Given the description of an element on the screen output the (x, y) to click on. 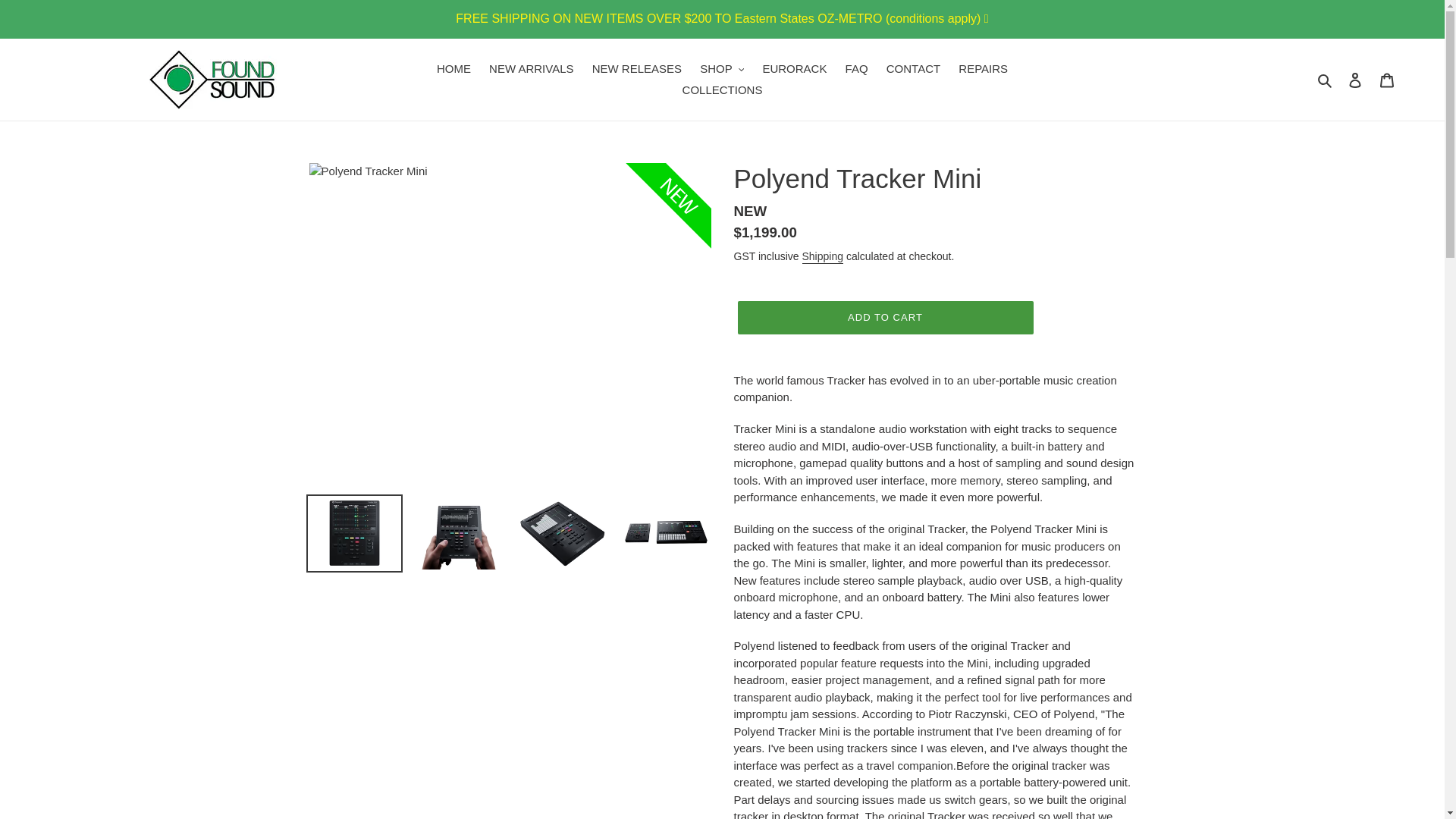
Cart (1387, 79)
REPAIRS (982, 68)
COLLECTIONS (722, 90)
HOME (454, 68)
Search (1326, 79)
FAQ (857, 68)
SHOP (722, 68)
NEW RELEASES (636, 68)
Log in (1355, 79)
EURORACK (794, 68)
